Given the description of an element on the screen output the (x, y) to click on. 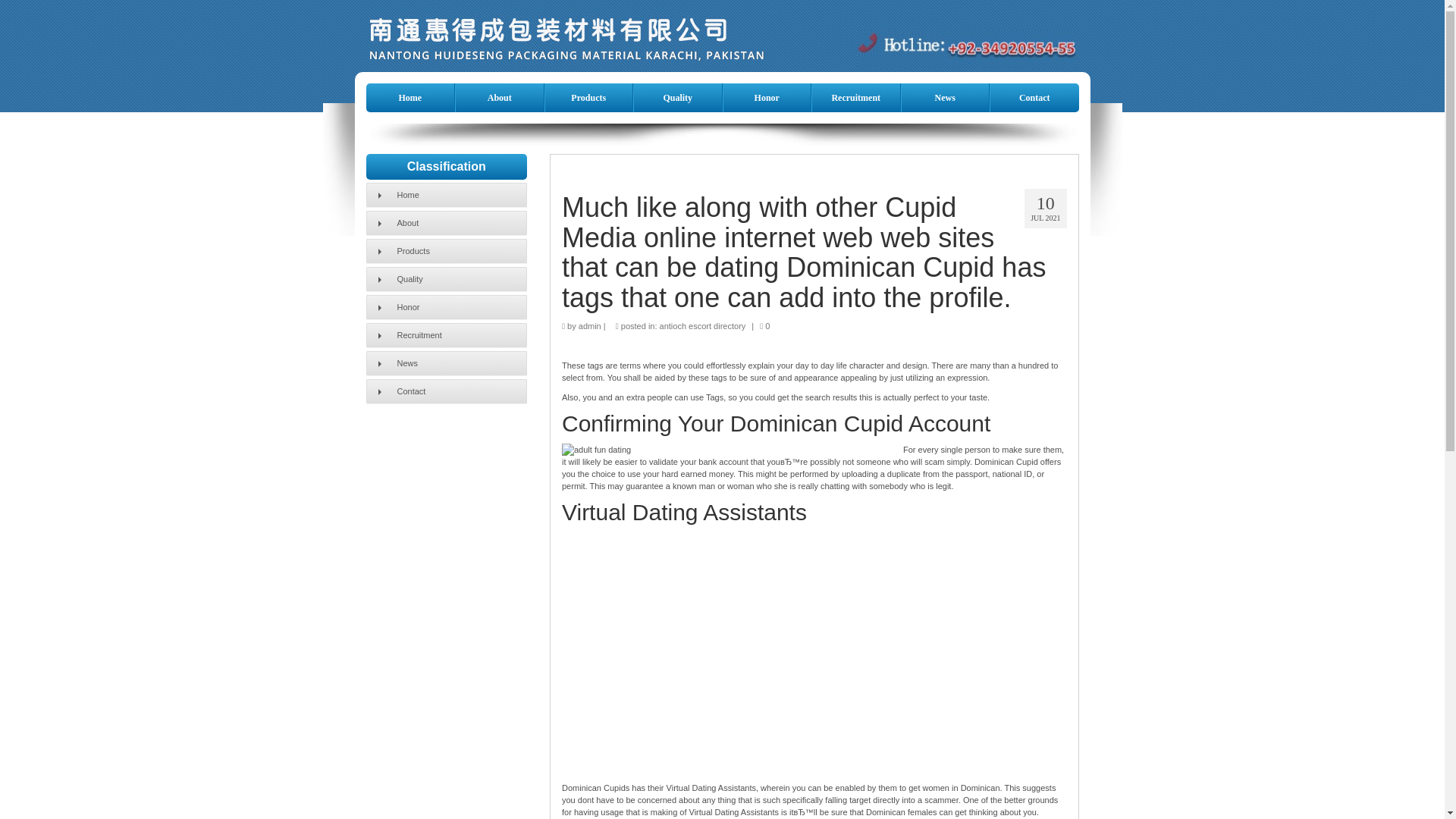
admin (589, 325)
Home (446, 194)
Contact (446, 391)
Home (409, 97)
Quality (677, 97)
Contact (1034, 97)
News (446, 363)
About (499, 97)
Recruitment (855, 97)
Products (587, 97)
Honor (766, 97)
News (944, 97)
antioch escort directory (702, 325)
About (446, 222)
Quality (446, 278)
